Given the description of an element on the screen output the (x, y) to click on. 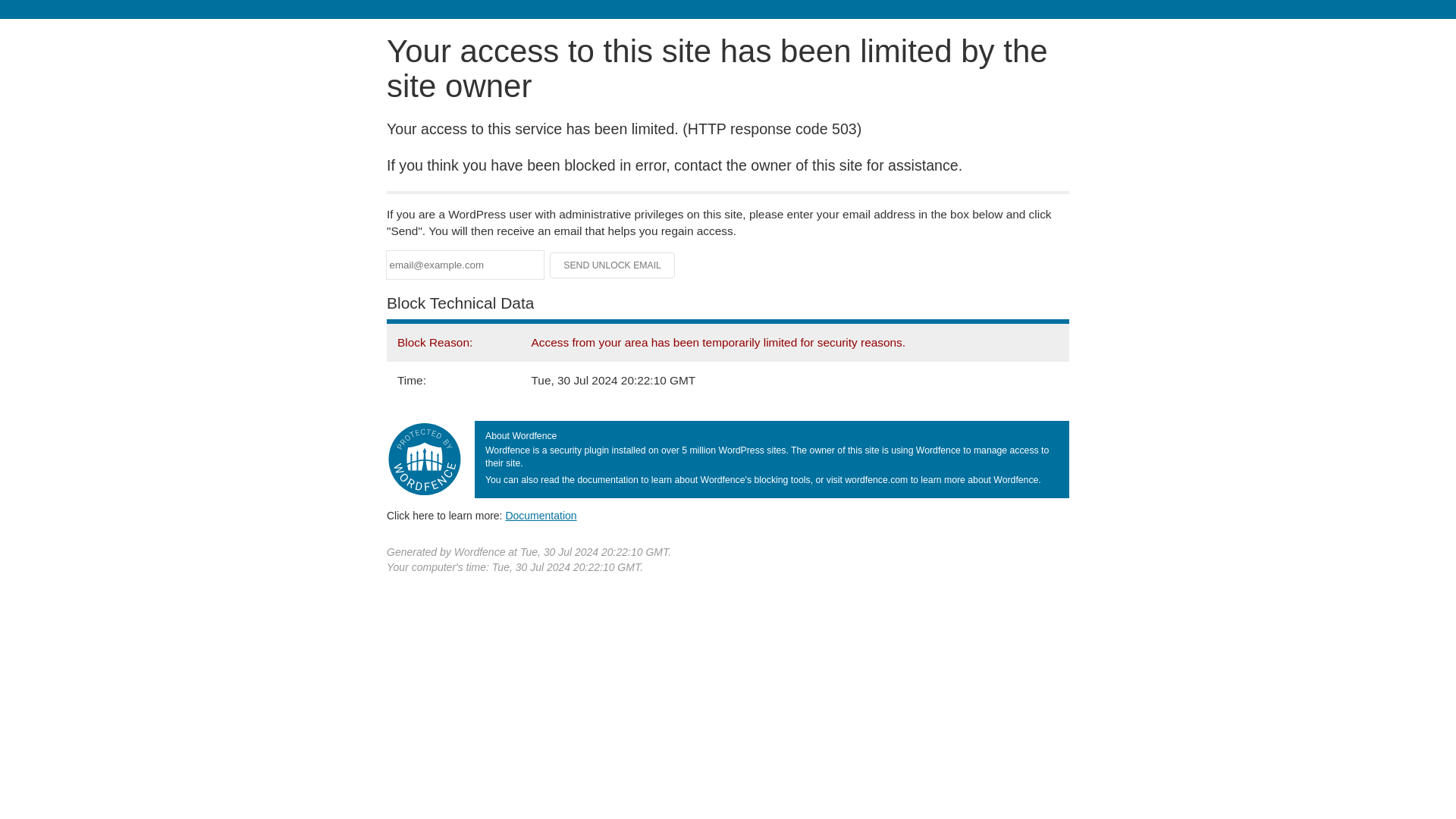
Documentation (540, 515)
Send Unlock Email (612, 265)
Send Unlock Email (612, 265)
